Given the description of an element on the screen output the (x, y) to click on. 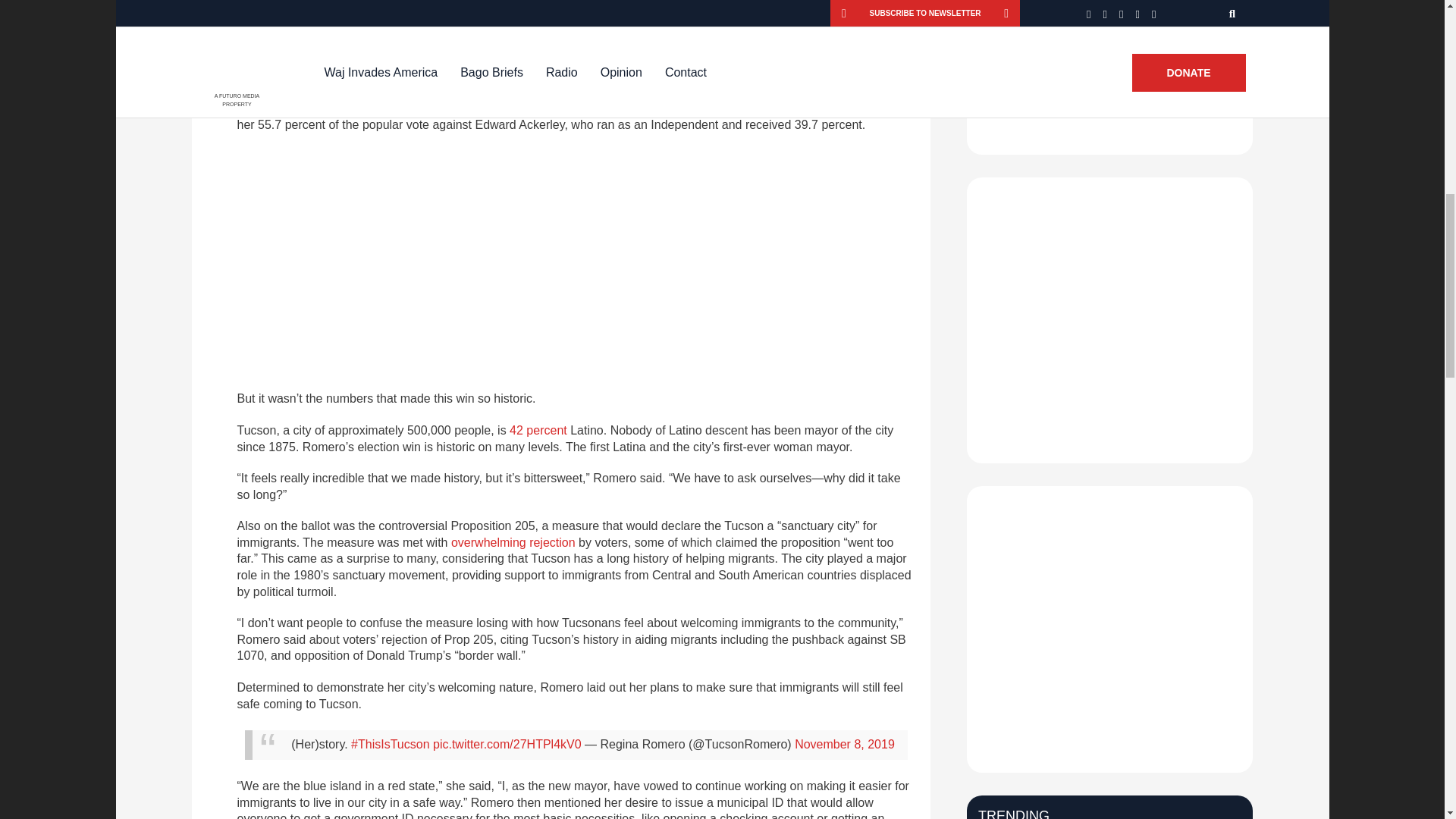
November 8, 2019 (844, 744)
42 percent (538, 430)
overwhelming rejection (513, 542)
